Given the description of an element on the screen output the (x, y) to click on. 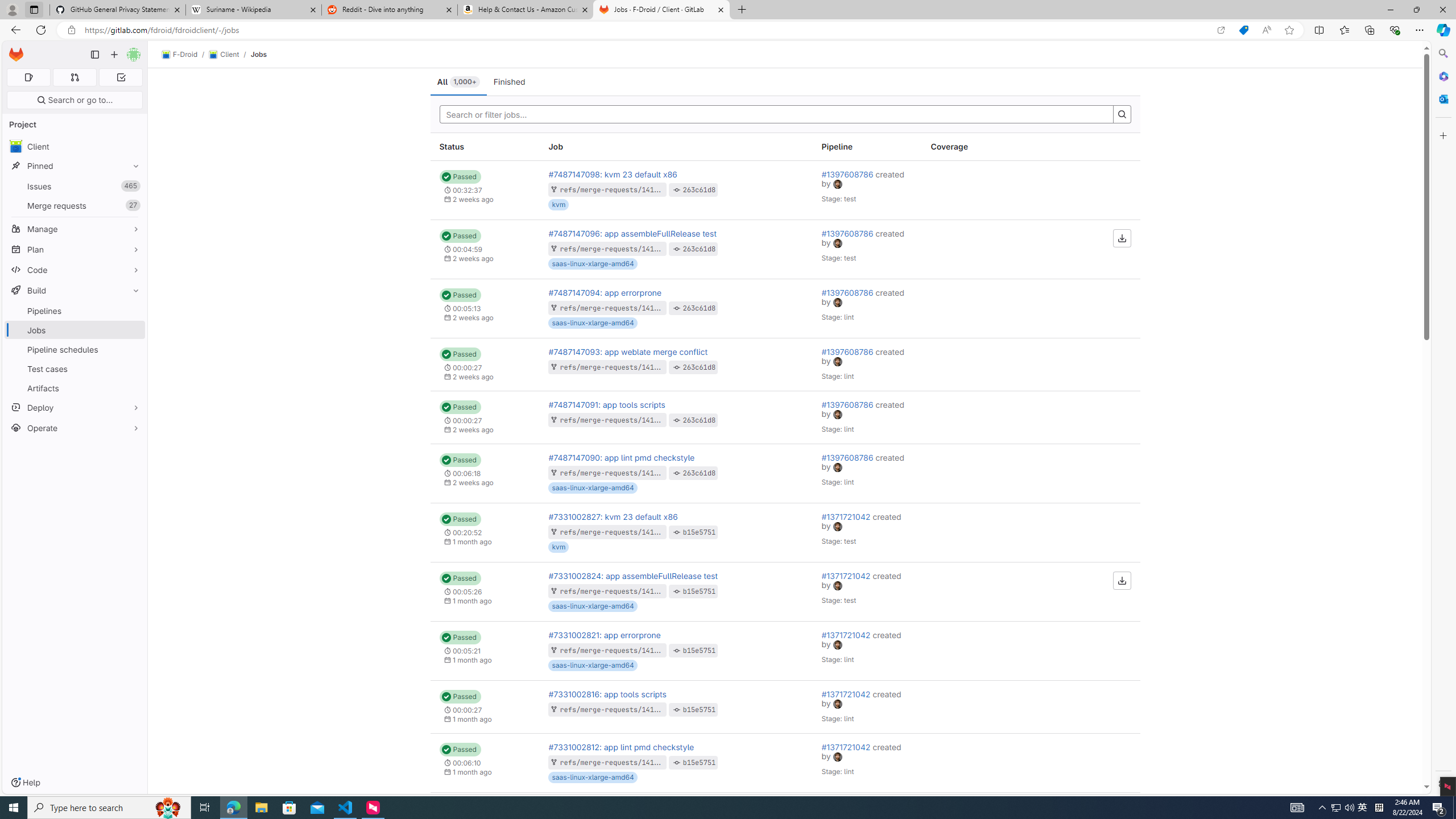
avatar (837, 757)
Pin Test cases (132, 368)
Pinned (74, 165)
Status: Passed 00:06:18 2 weeks ago (484, 473)
#7331002816: app tools scripts (607, 693)
Client/ (229, 54)
Test cases (74, 368)
Status: Passed 00:05:26 1 month ago (484, 591)
Manage (74, 228)
Suriname - Wikipedia (253, 9)
#1397608786  (848, 457)
